Given the description of an element on the screen output the (x, y) to click on. 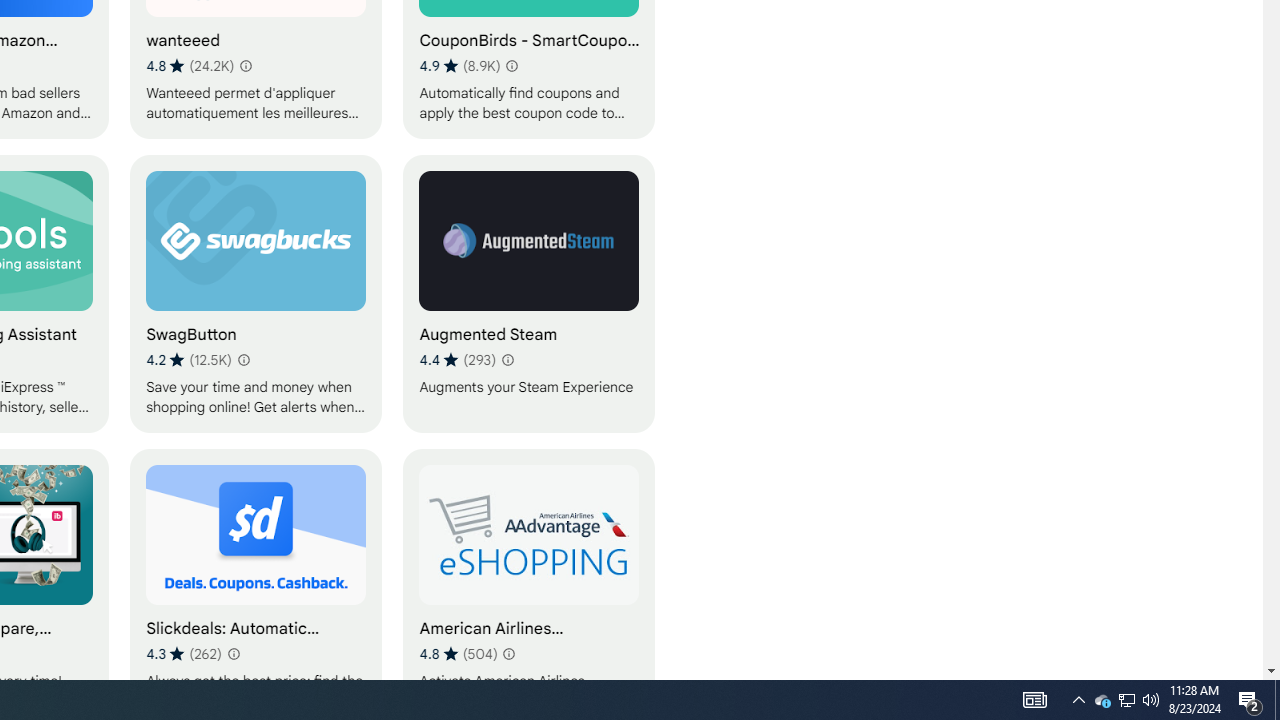
Average rating 4.2 out of 5 stars. 12.5K ratings. (188, 359)
Learn more about results and reviews "SwagButton" (242, 359)
Augmented Steam (529, 293)
Average rating 4.4 out of 5 stars. 293 ratings. (457, 359)
Learn more about results and reviews "wanteeed" (245, 65)
Average rating 4.9 out of 5 stars. 8.9K ratings. (459, 66)
Average rating 4.8 out of 5 stars. 24.2K ratings. (190, 66)
Average rating 4.3 out of 5 stars. 262 ratings. (183, 653)
Learn more about results and reviews "Augmented Steam" (506, 359)
Average rating 4.8 out of 5 stars. 504 ratings. (457, 653)
SwagButton (256, 293)
